Given the description of an element on the screen output the (x, y) to click on. 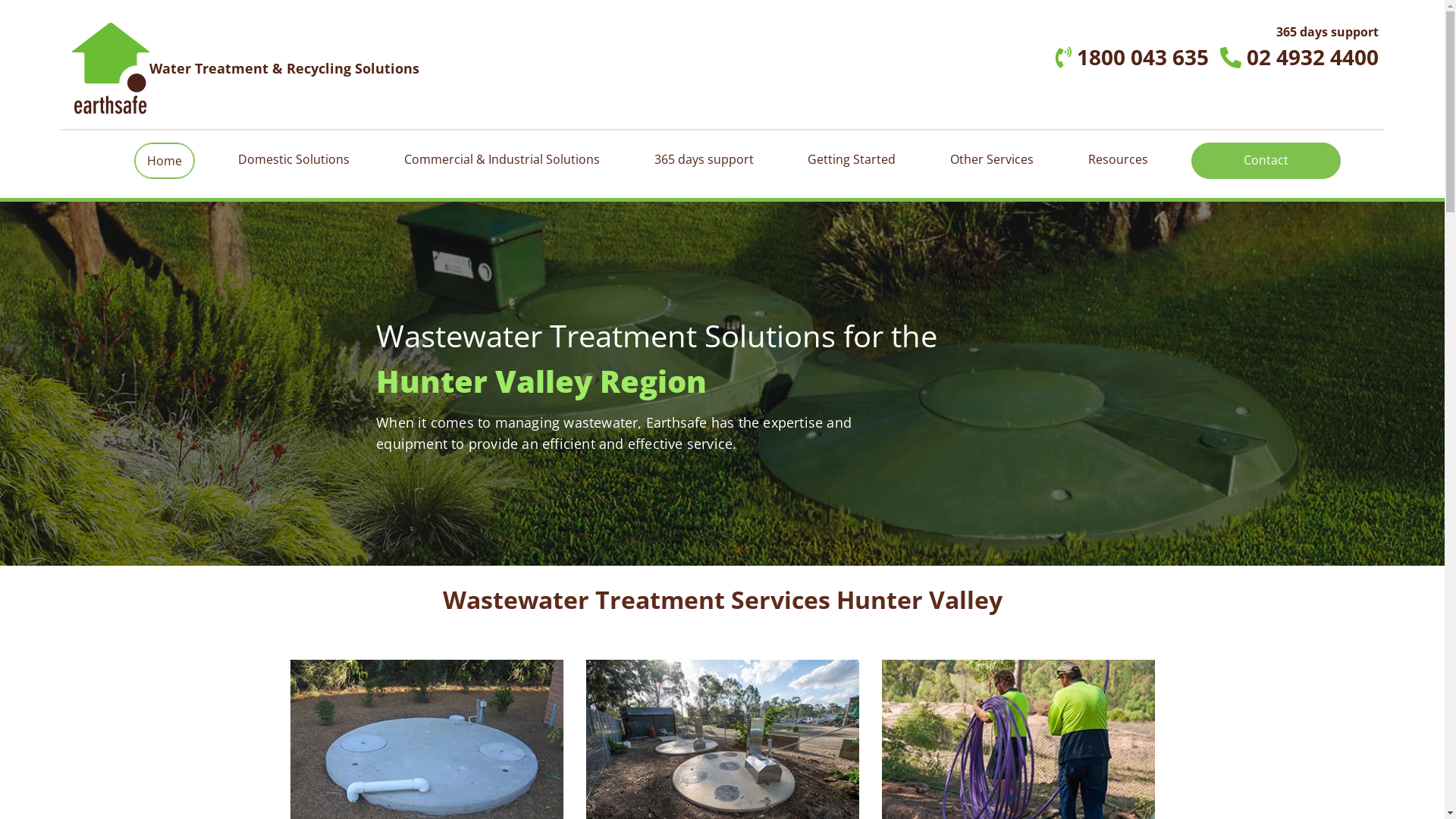
Home Element type: text (164, 160)
Resources Element type: text (1117, 158)
Other Services Element type: text (991, 158)
Contact Element type: text (1265, 159)
Domestic Solutions Element type: text (293, 158)
Commercial & Industrial Solutions Element type: text (501, 158)
Getting Started Element type: text (851, 158)
02 4932 4400 Element type: text (1299, 56)
1800 043 635 Element type: text (1131, 56)
365 days support Element type: text (704, 158)
